Given the description of an element on the screen output the (x, y) to click on. 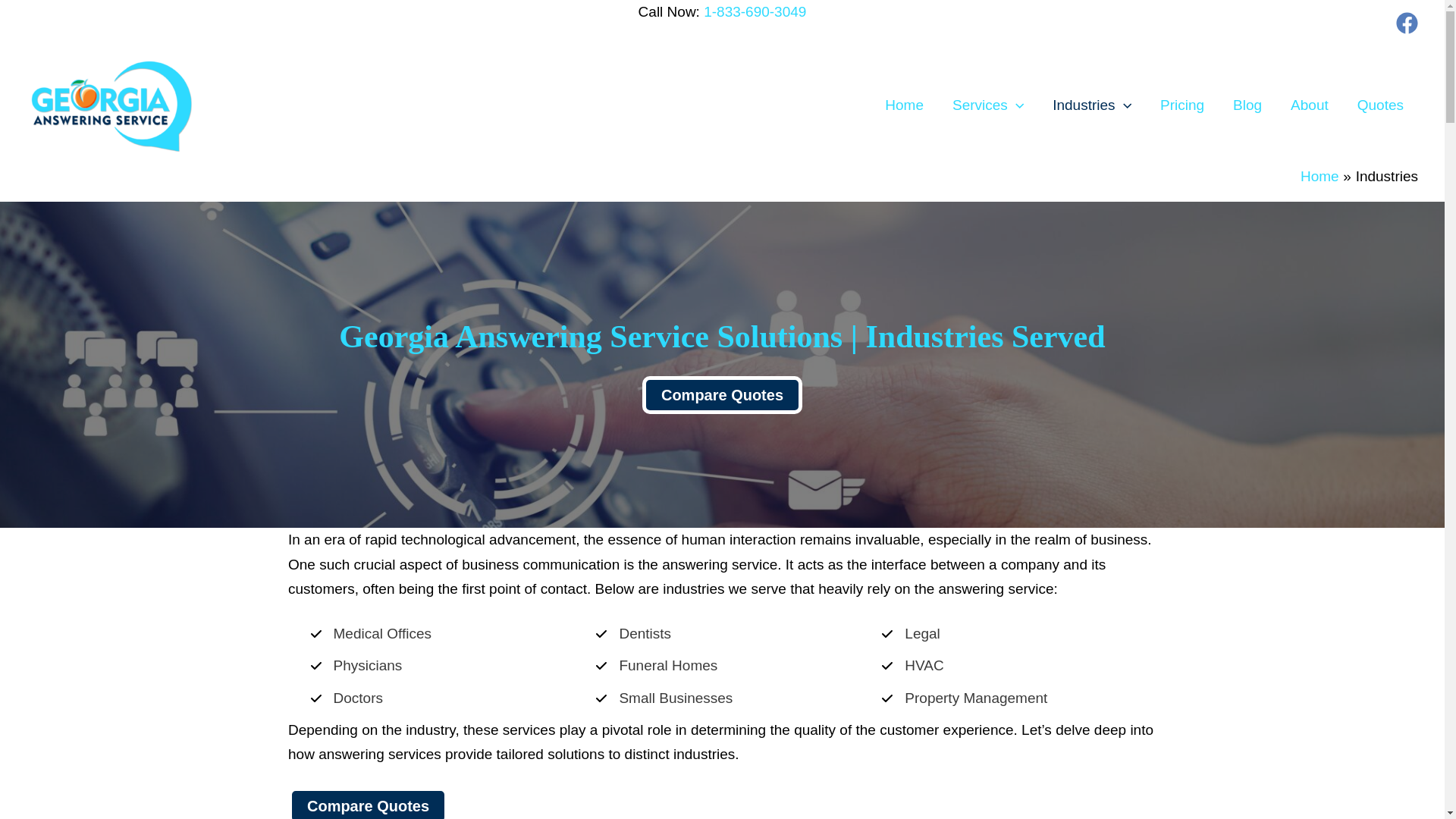
Home (1319, 176)
Services (987, 105)
Quotes (1380, 105)
Industries (1091, 105)
1-833-690-3049 (754, 11)
